Given the description of an element on the screen output the (x, y) to click on. 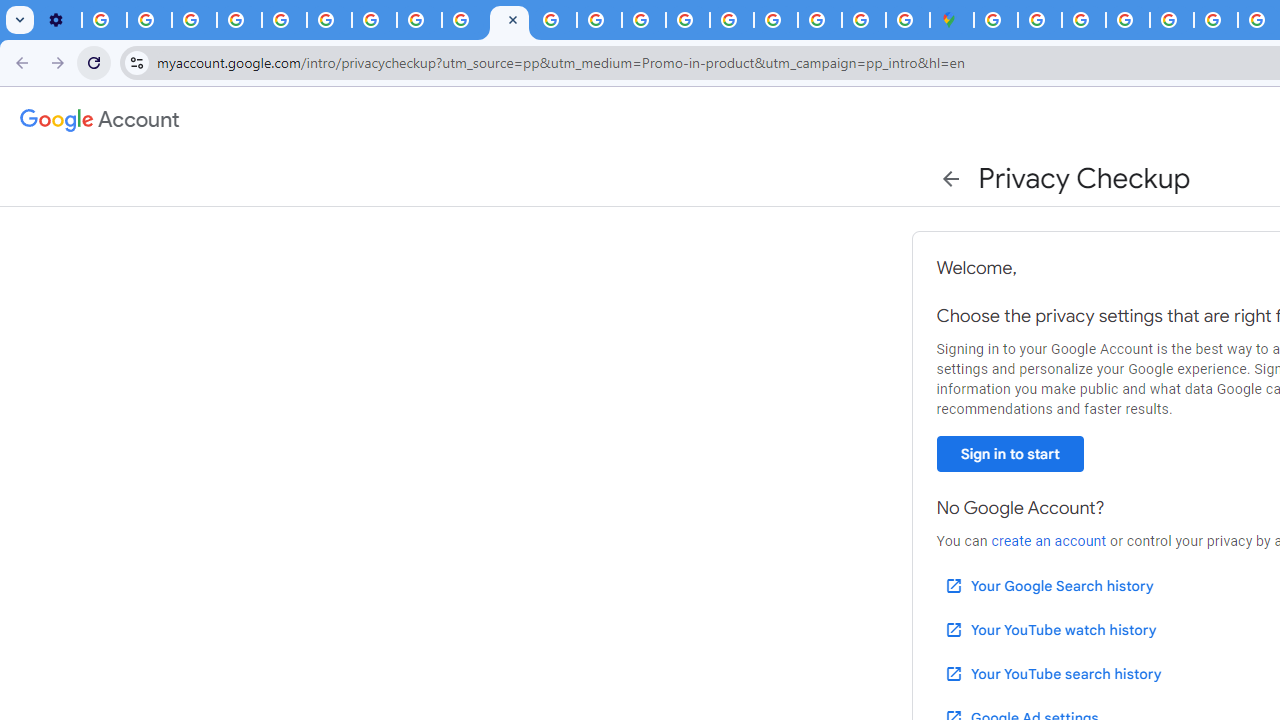
YouTube (329, 20)
Google Account settings (100, 120)
https://scholar.google.com/ (554, 20)
Privacy Checkup (464, 20)
Your YouTube watch history (1049, 630)
create an account (1048, 541)
Sign in to start (1009, 454)
Sign in - Google Accounts (995, 20)
Your Google Search history (1048, 586)
Sign in - Google Accounts (1039, 20)
